Given the description of an element on the screen output the (x, y) to click on. 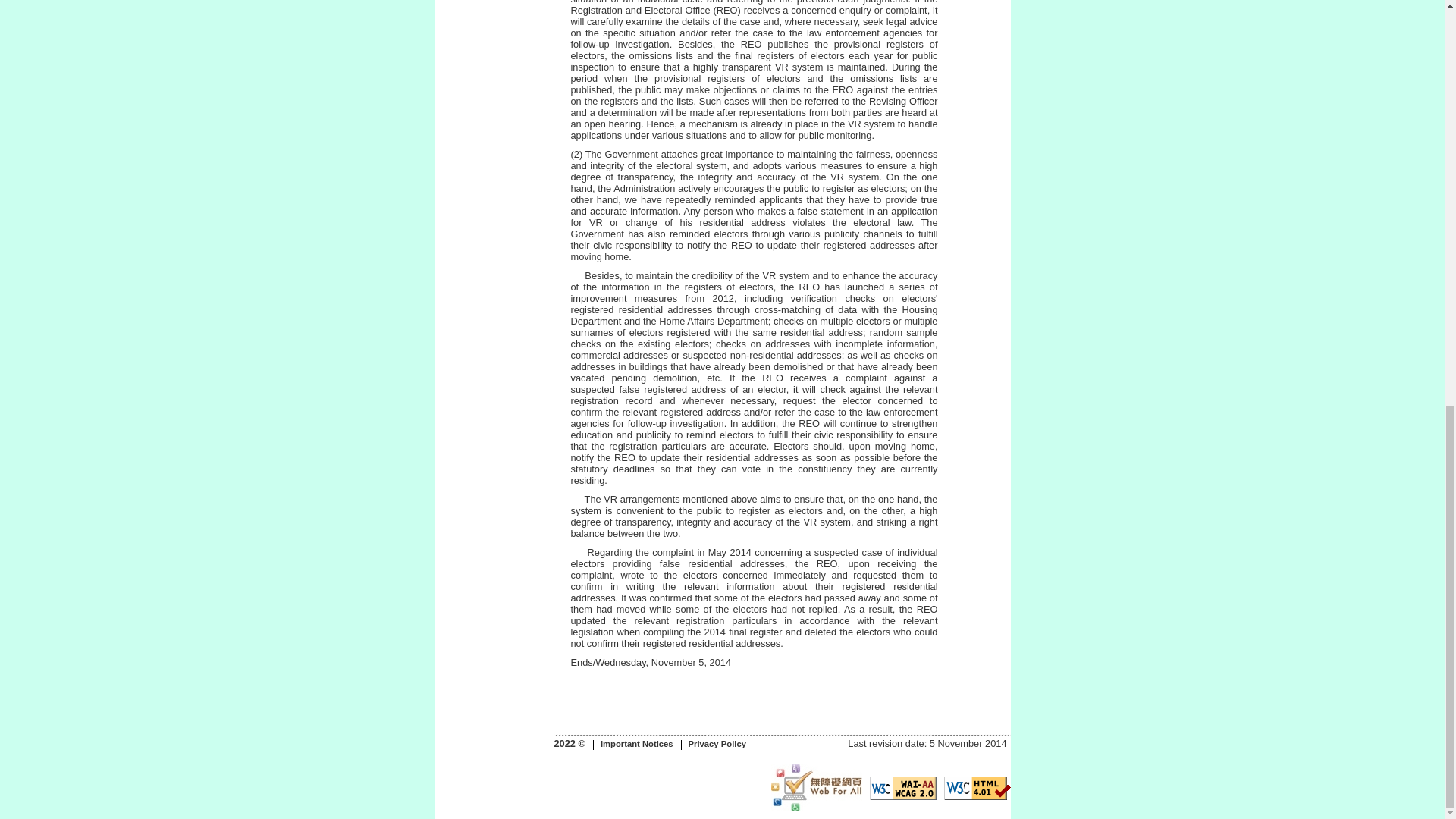
WCAG 2.0 AA (902, 788)
Web Accessibility Recognition Scheme (815, 787)
Valid HTML 4.01 (976, 788)
